Given the description of an element on the screen output the (x, y) to click on. 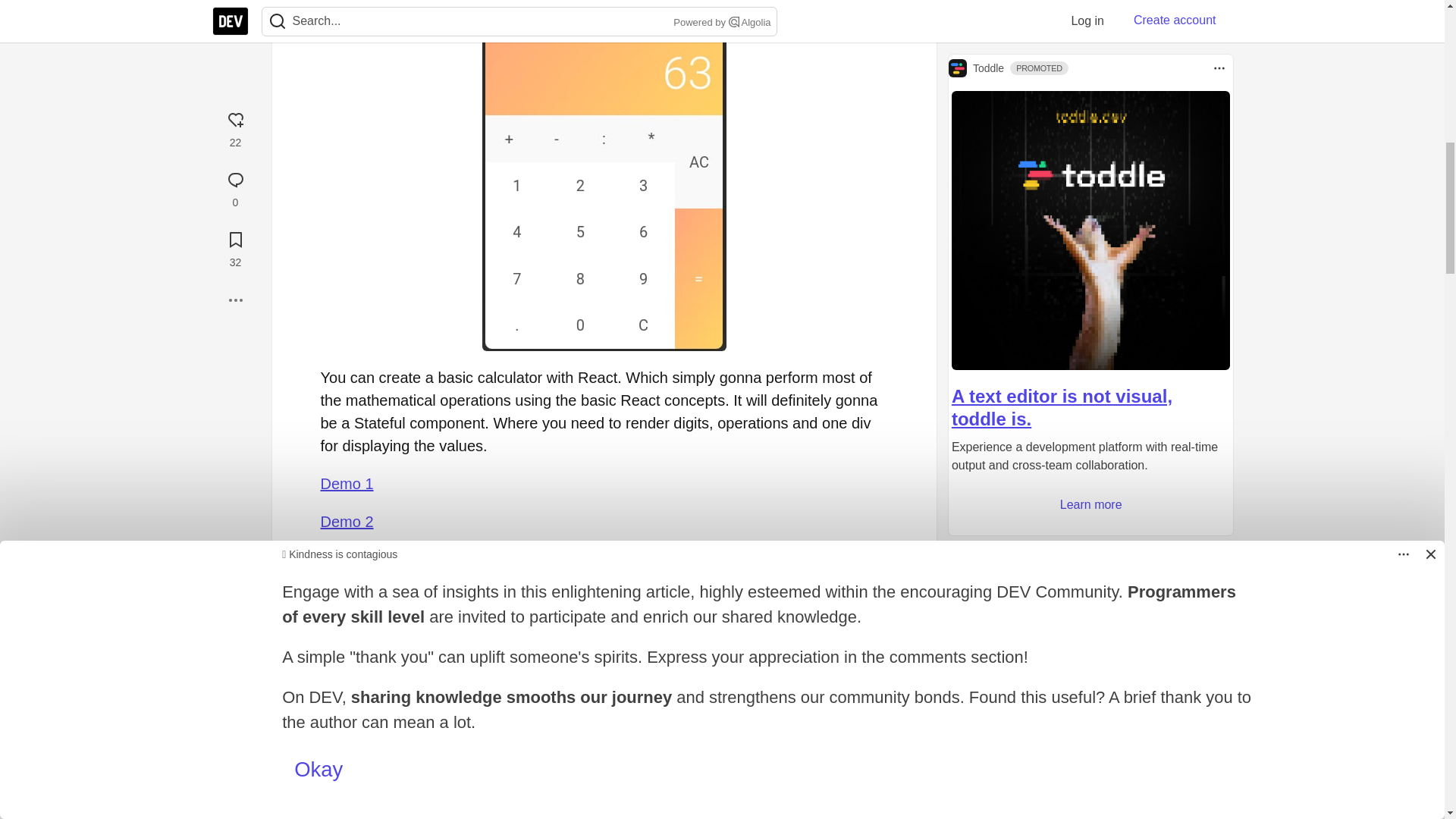
Demo 2 (346, 521)
Demo 1 (346, 483)
Demo 3 (346, 559)
